Given the description of an element on the screen output the (x, y) to click on. 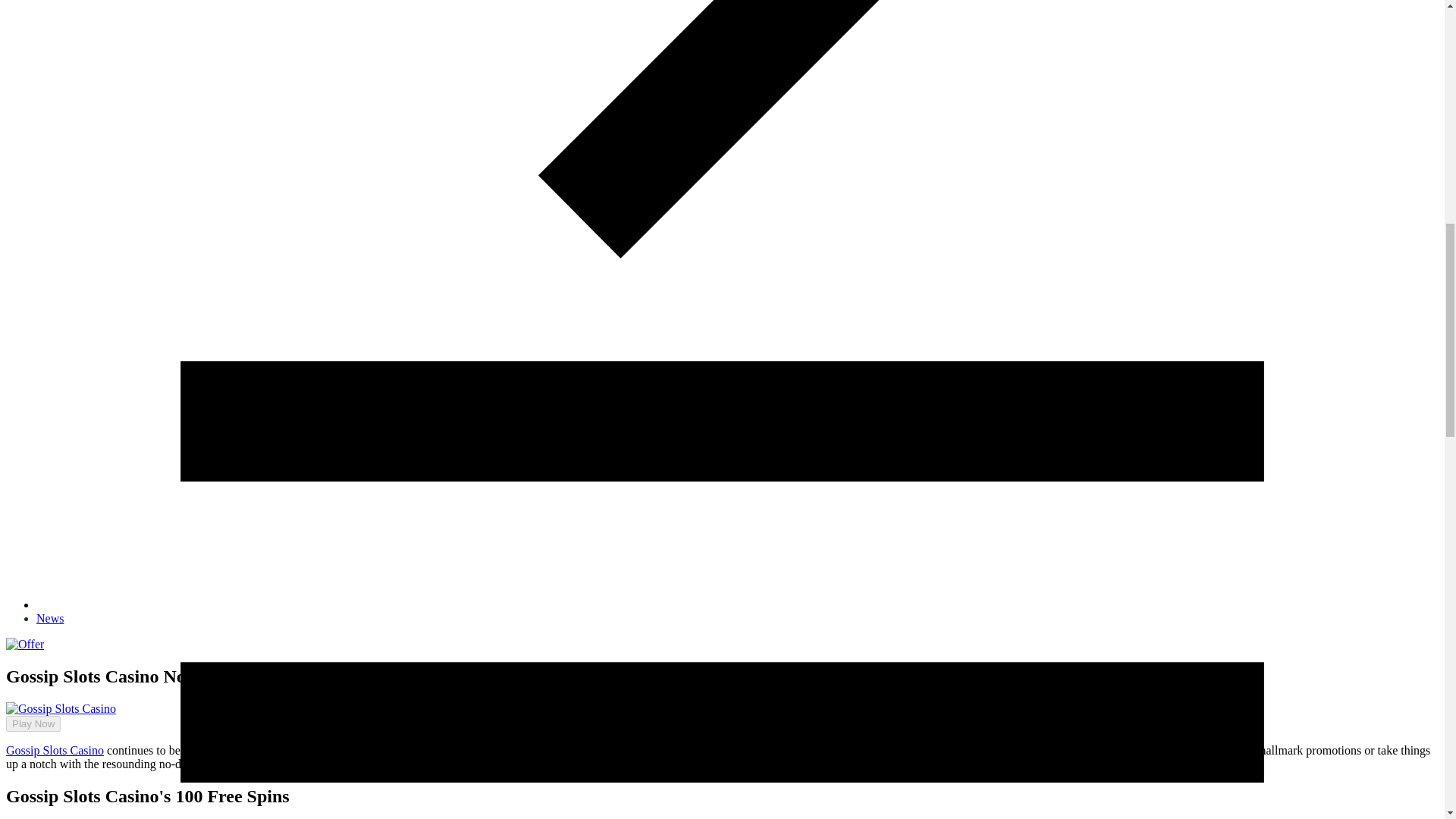
News (50, 617)
Play Now (27, 718)
Gossip Slots Casino (54, 749)
Play Now (33, 723)
